Given the description of an element on the screen output the (x, y) to click on. 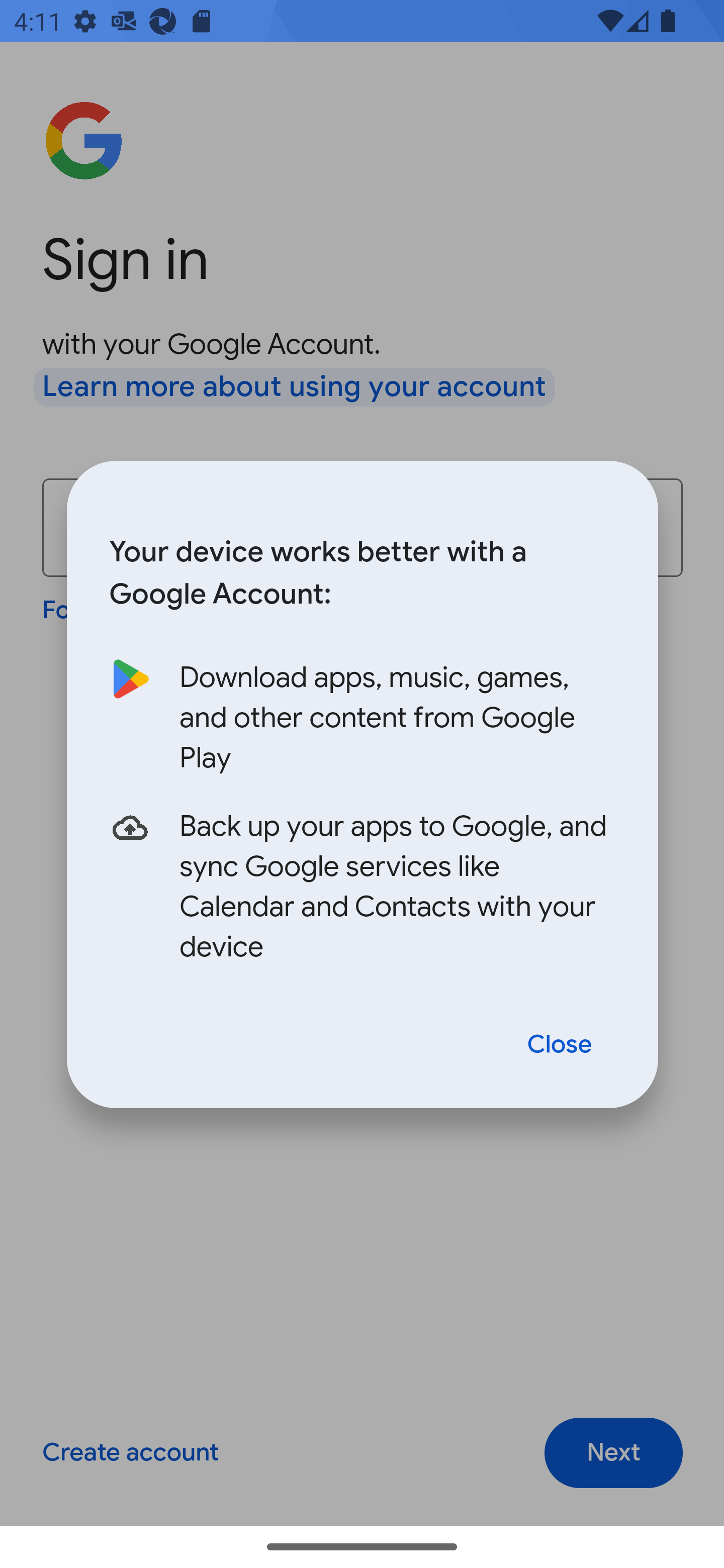
Close (560, 1044)
